Given the description of an element on the screen output the (x, y) to click on. 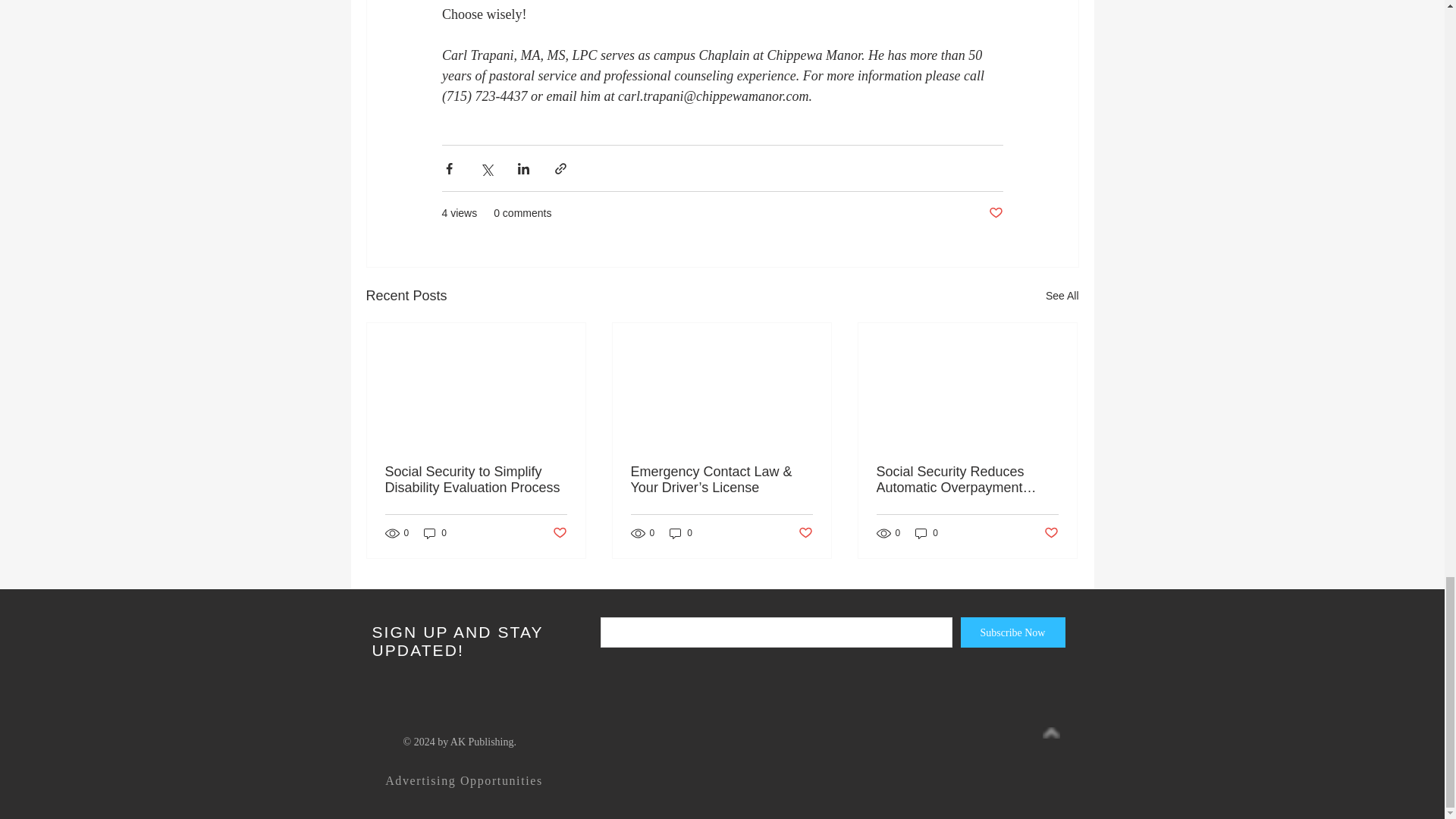
0 (926, 533)
0 (435, 533)
Post not marked as liked (558, 533)
Social Security to Simplify Disability Evaluation Process (476, 480)
Post not marked as liked (804, 533)
0 (681, 533)
See All (1061, 296)
Subscribe Now (1011, 632)
Post not marked as liked (1050, 533)
Post not marked as liked (995, 213)
